Given the description of an element on the screen output the (x, y) to click on. 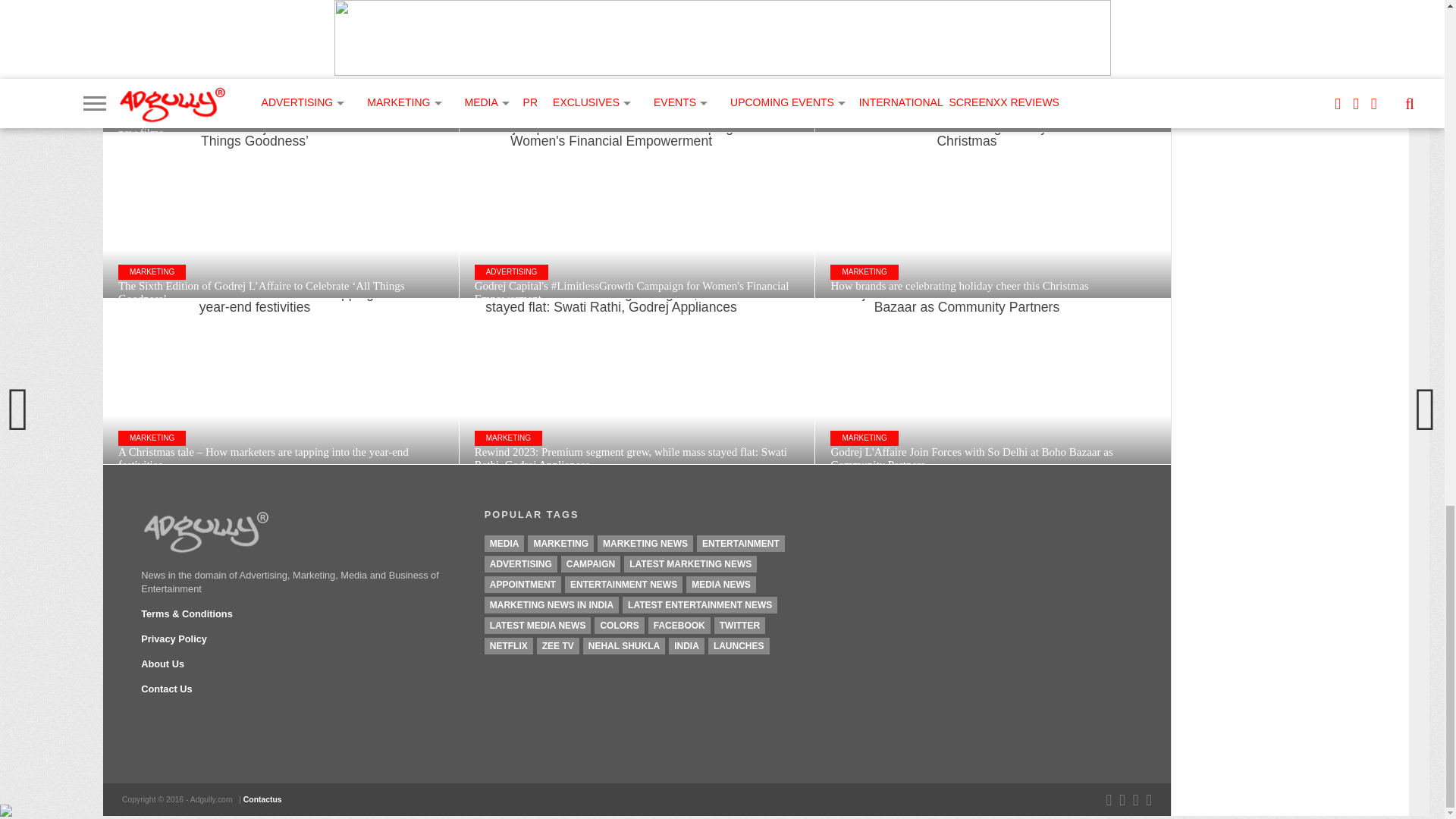
Marketing News (644, 543)
Campaign (590, 564)
Advertising (520, 564)
Entertainment (740, 543)
Latest Marketing News (690, 564)
Marketing (560, 543)
Media (504, 543)
Entertainment News (623, 584)
Appointment (522, 584)
